Given the description of an element on the screen output the (x, y) to click on. 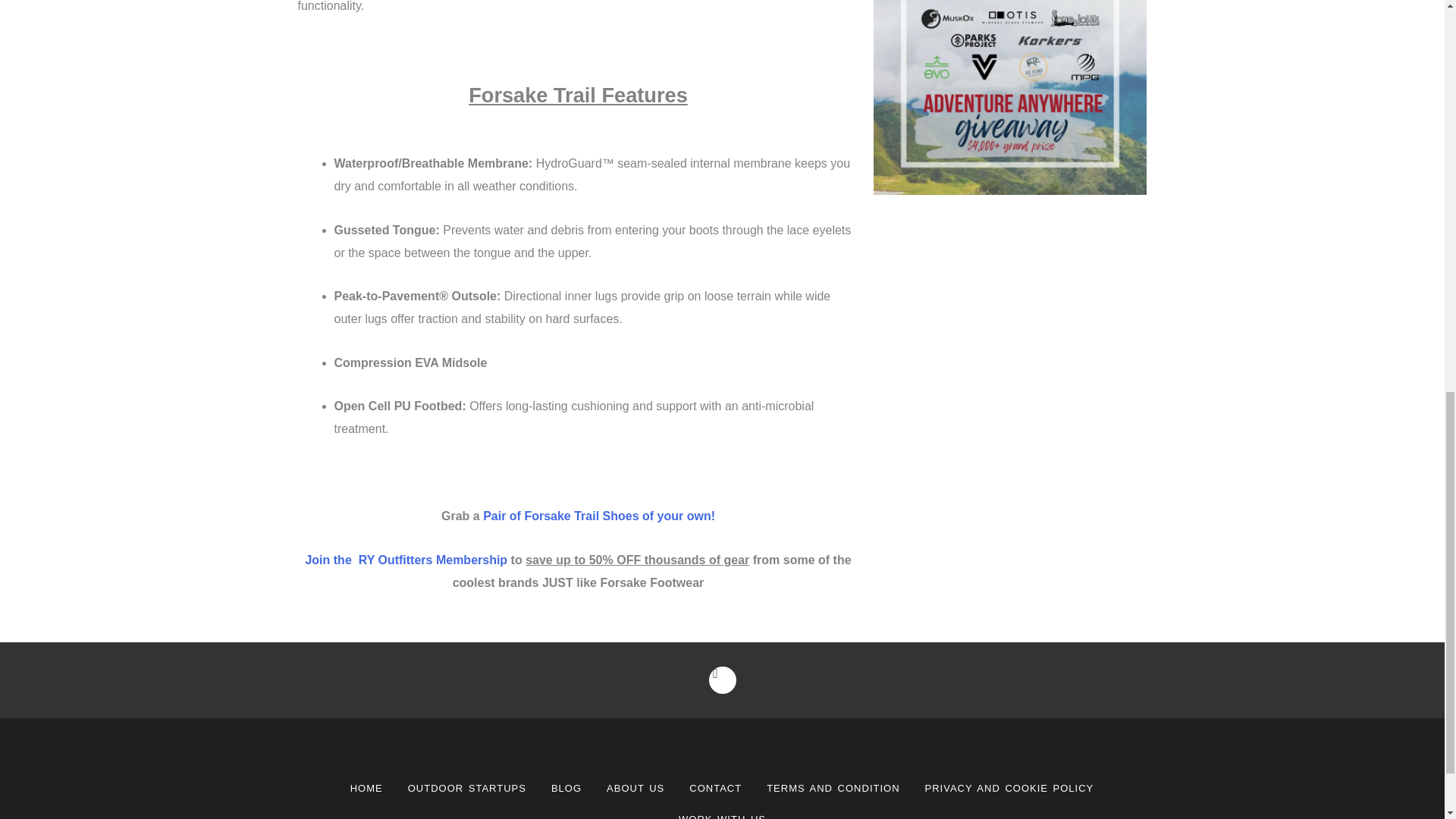
PRIVACY AND COOKIE POLICY (1009, 788)
TERMS AND CONDITION (832, 788)
Pair of Forsake Trail Shoes of your own! (598, 515)
WORK WITH US (721, 811)
Join the  RY Outfitters Membership (405, 559)
HOME (365, 788)
ABOUT US (635, 788)
CONTACT (715, 788)
OUTDOOR STARTUPS (467, 788)
BLOG (566, 788)
